Given the description of an element on the screen output the (x, y) to click on. 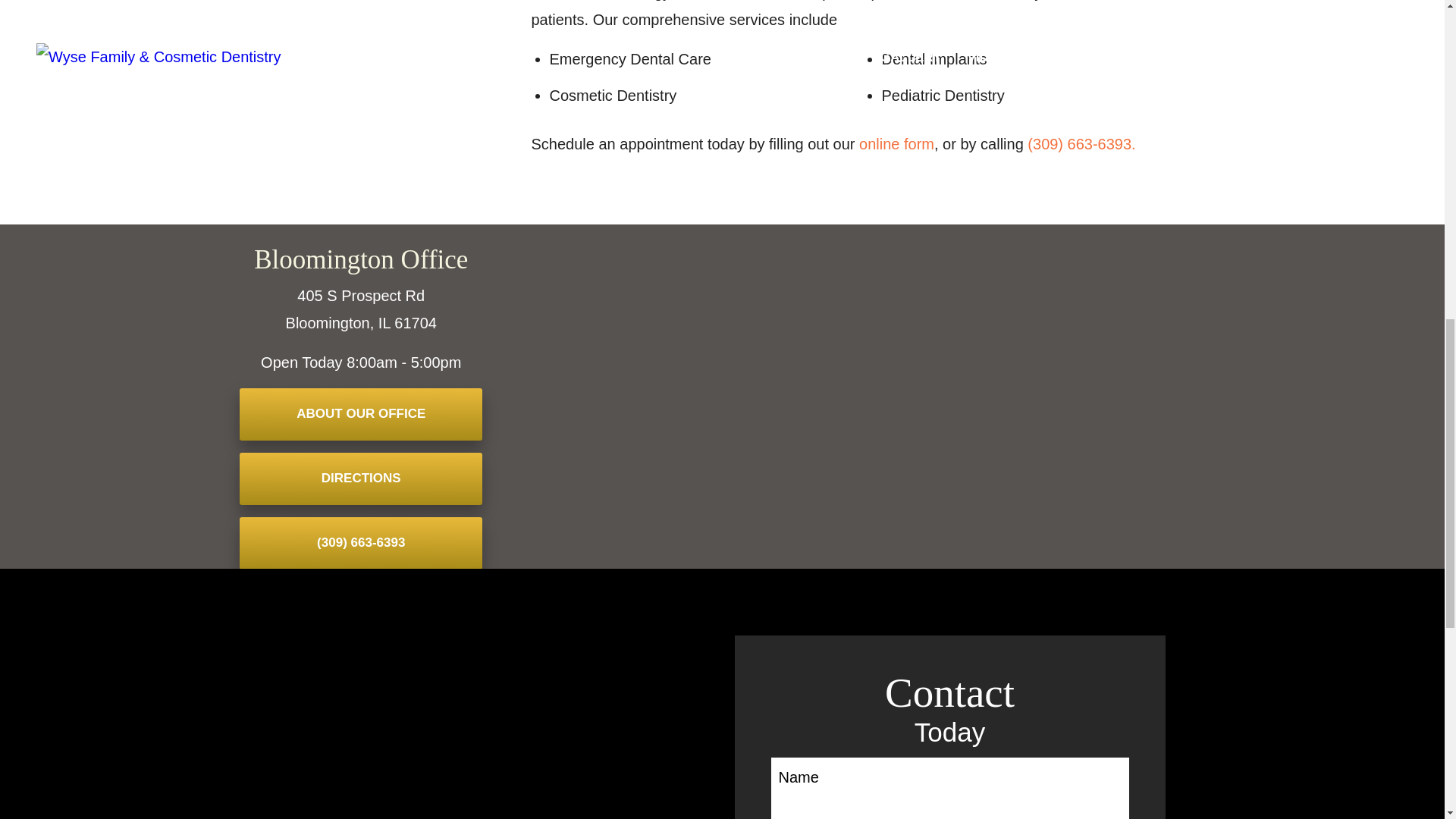
ABOUT OUR OFFICE (360, 414)
DIRECTIONS (360, 478)
online form (896, 143)
Bloomington Office (360, 259)
Locations (1036, 238)
